Given the description of an element on the screen output the (x, y) to click on. 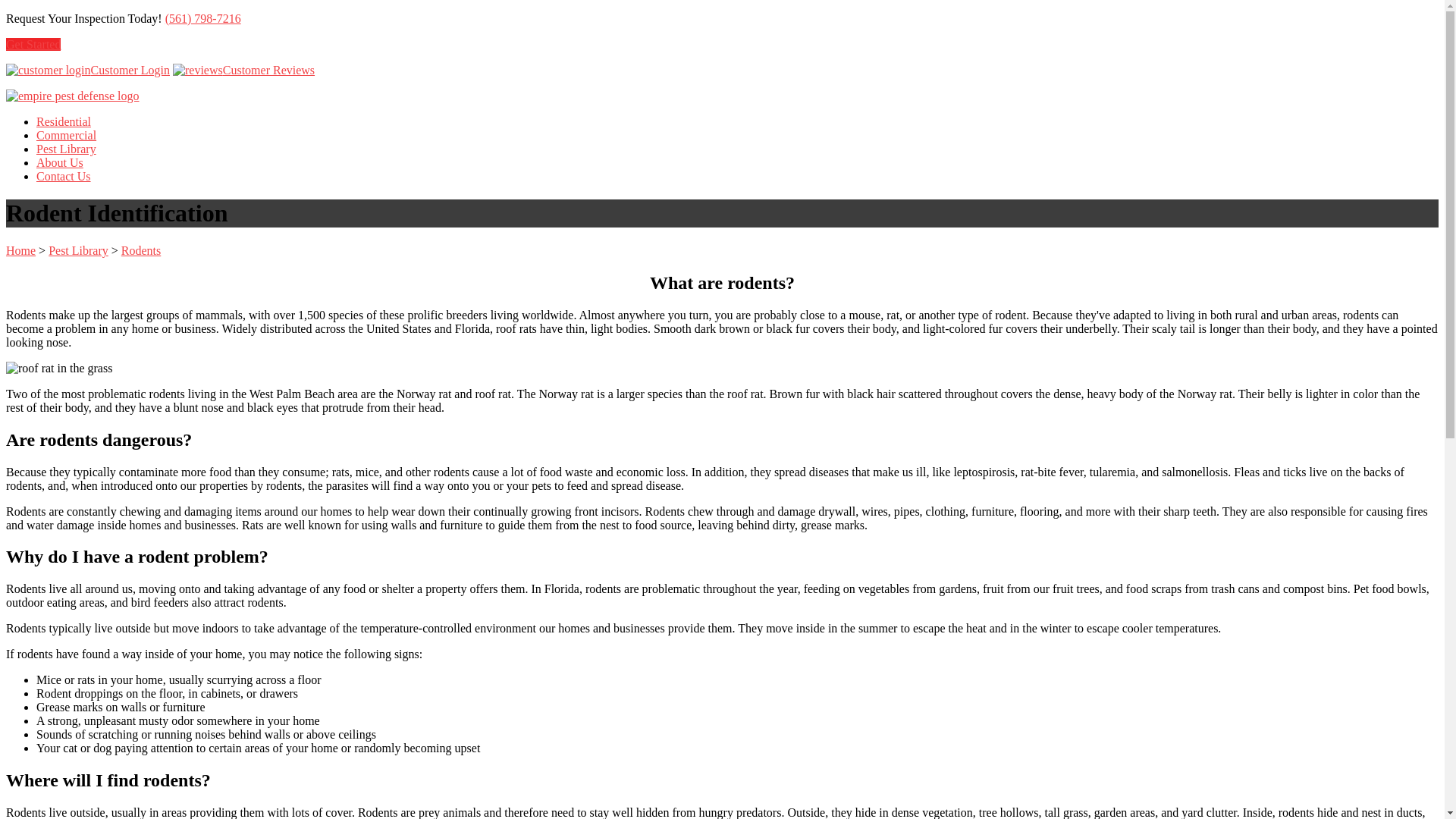
Reviews (197, 69)
About Us (59, 162)
Pest Library (77, 250)
Customer Login (47, 69)
Home (19, 250)
Residential (63, 121)
Pest Library (66, 148)
Rodents (140, 250)
Get Started (33, 43)
Customer Reviews (243, 69)
